Given the description of an element on the screen output the (x, y) to click on. 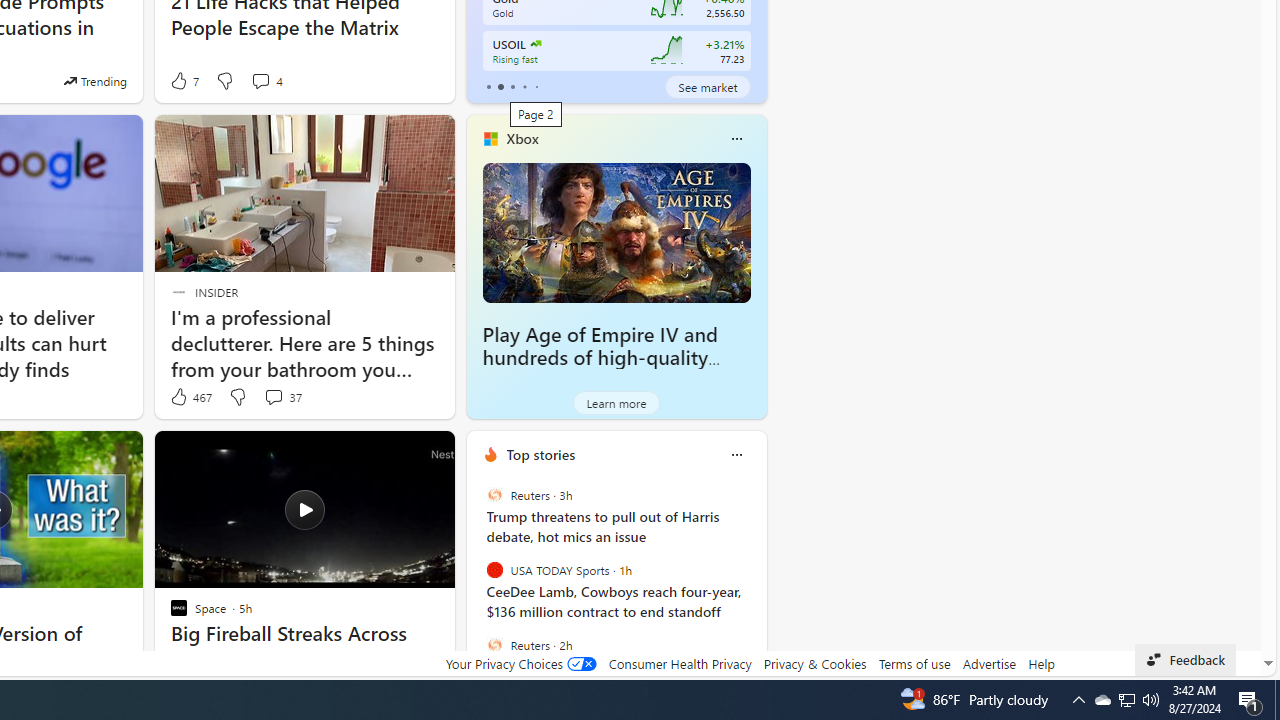
Learn more (616, 402)
tab-1 (500, 86)
Your Privacy Choices (520, 663)
This story is trending (95, 80)
tab-3 (524, 86)
tab-0 (488, 86)
next (756, 583)
tab-4 (535, 86)
previous (476, 583)
